Given the description of an element on the screen output the (x, y) to click on. 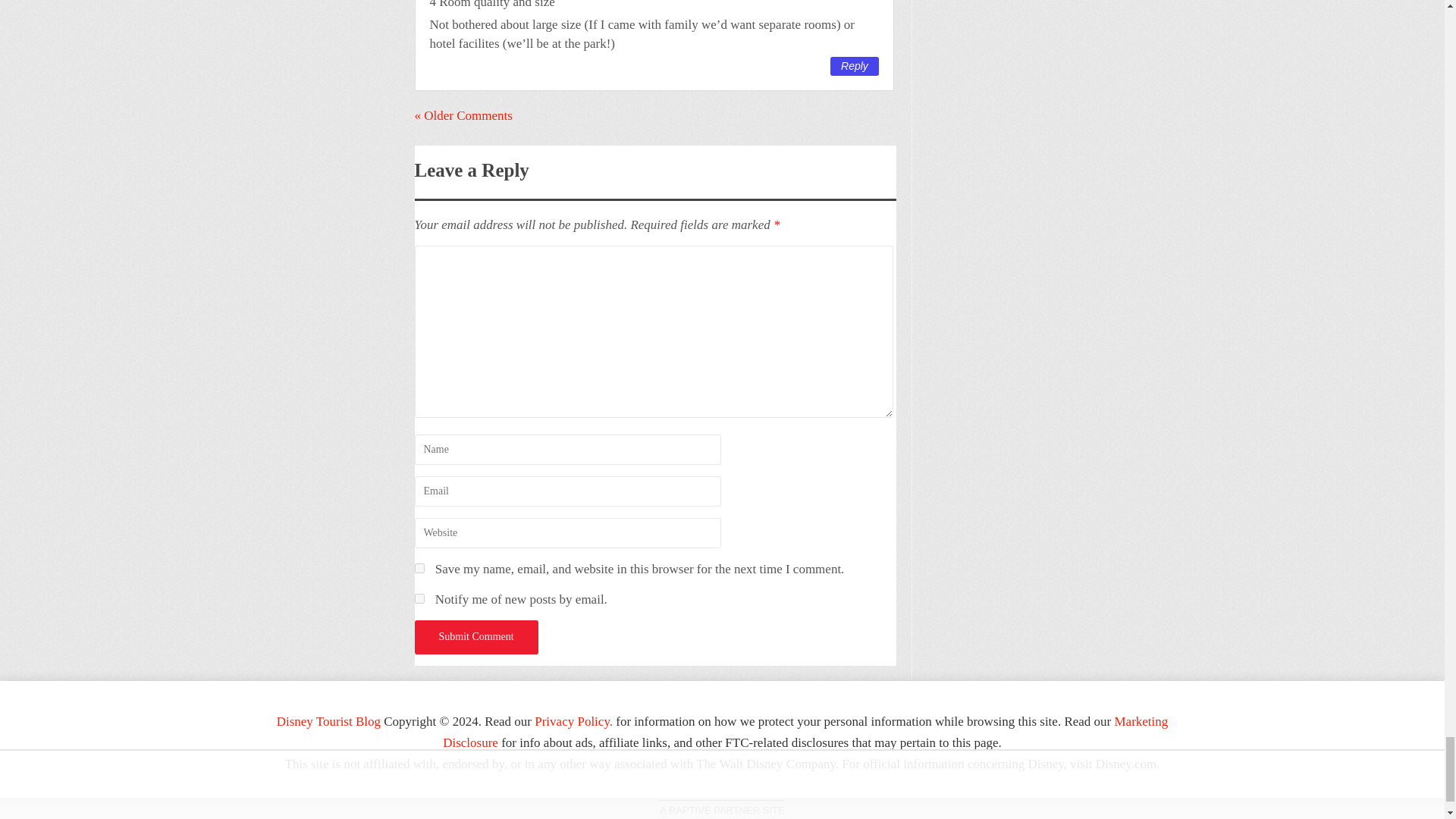
subscribe (418, 598)
Submit Comment (475, 636)
yes (418, 568)
